Given the description of an element on the screen output the (x, y) to click on. 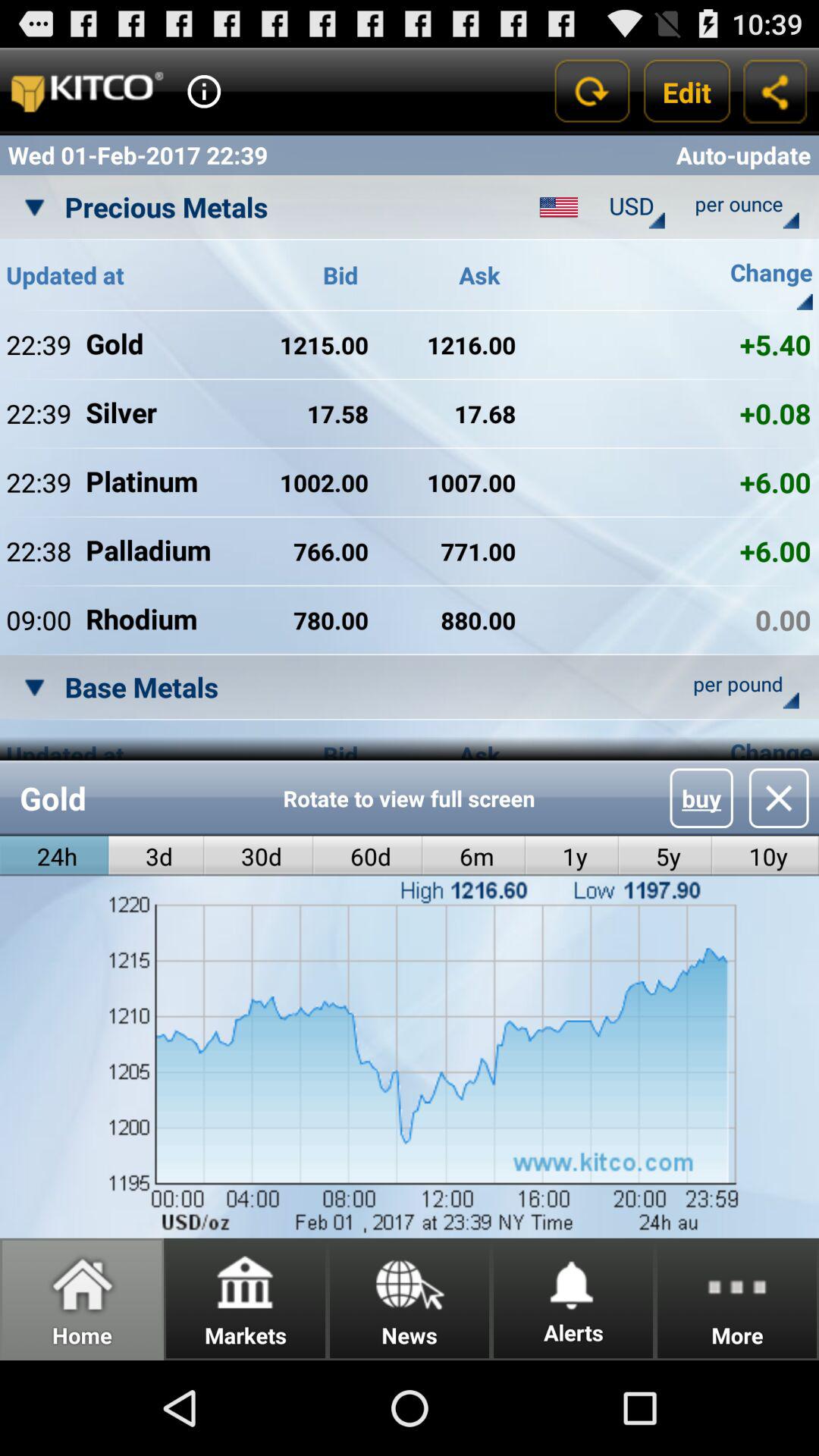
refresh page (591, 91)
